Given the description of an element on the screen output the (x, y) to click on. 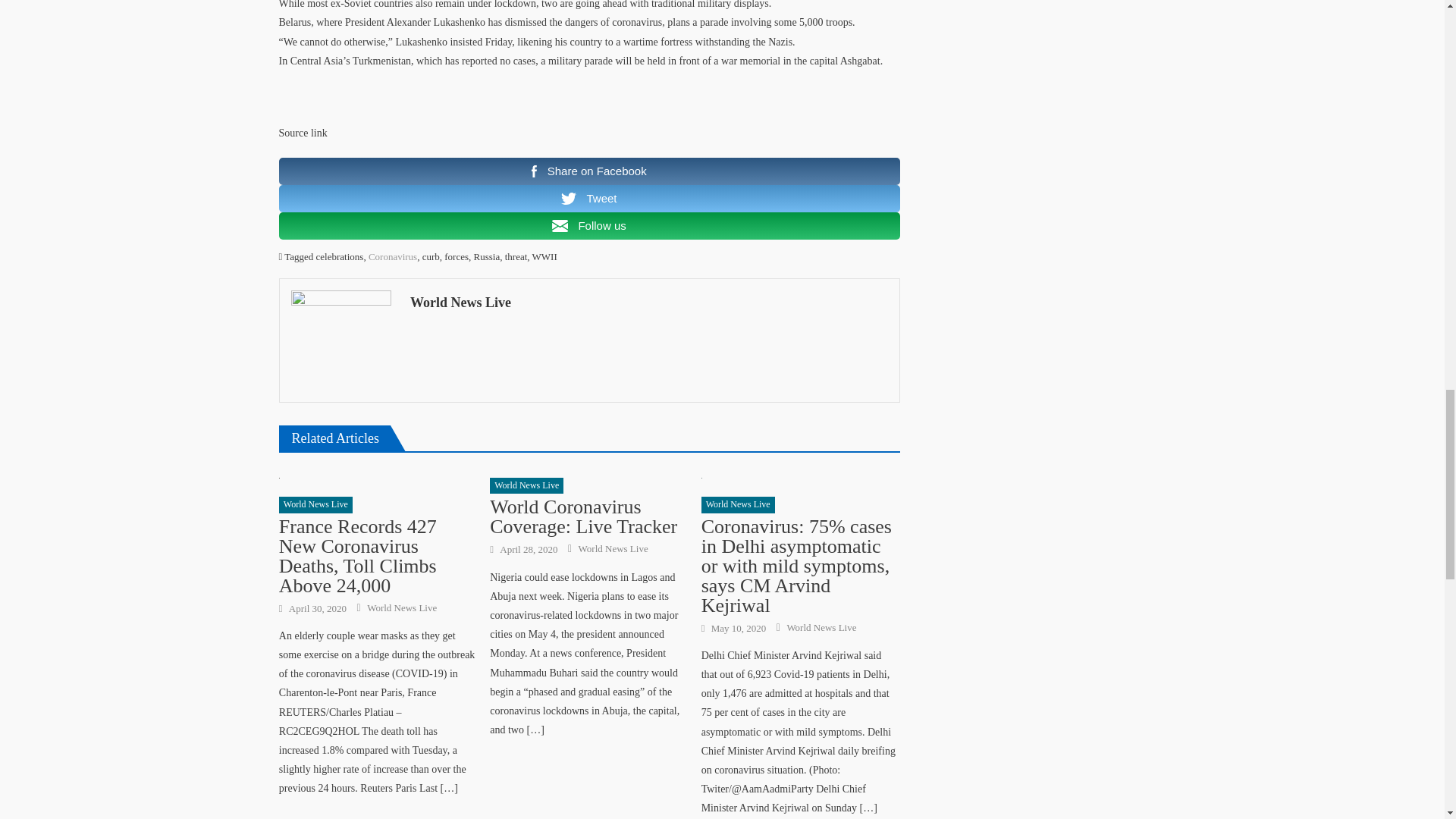
World News Live (315, 504)
World News Live (737, 504)
World News Live (821, 627)
Coronavirus (392, 256)
World News Live (649, 302)
World News Live (401, 608)
World News Live (526, 485)
World News Live (612, 549)
